Given the description of an element on the screen output the (x, y) to click on. 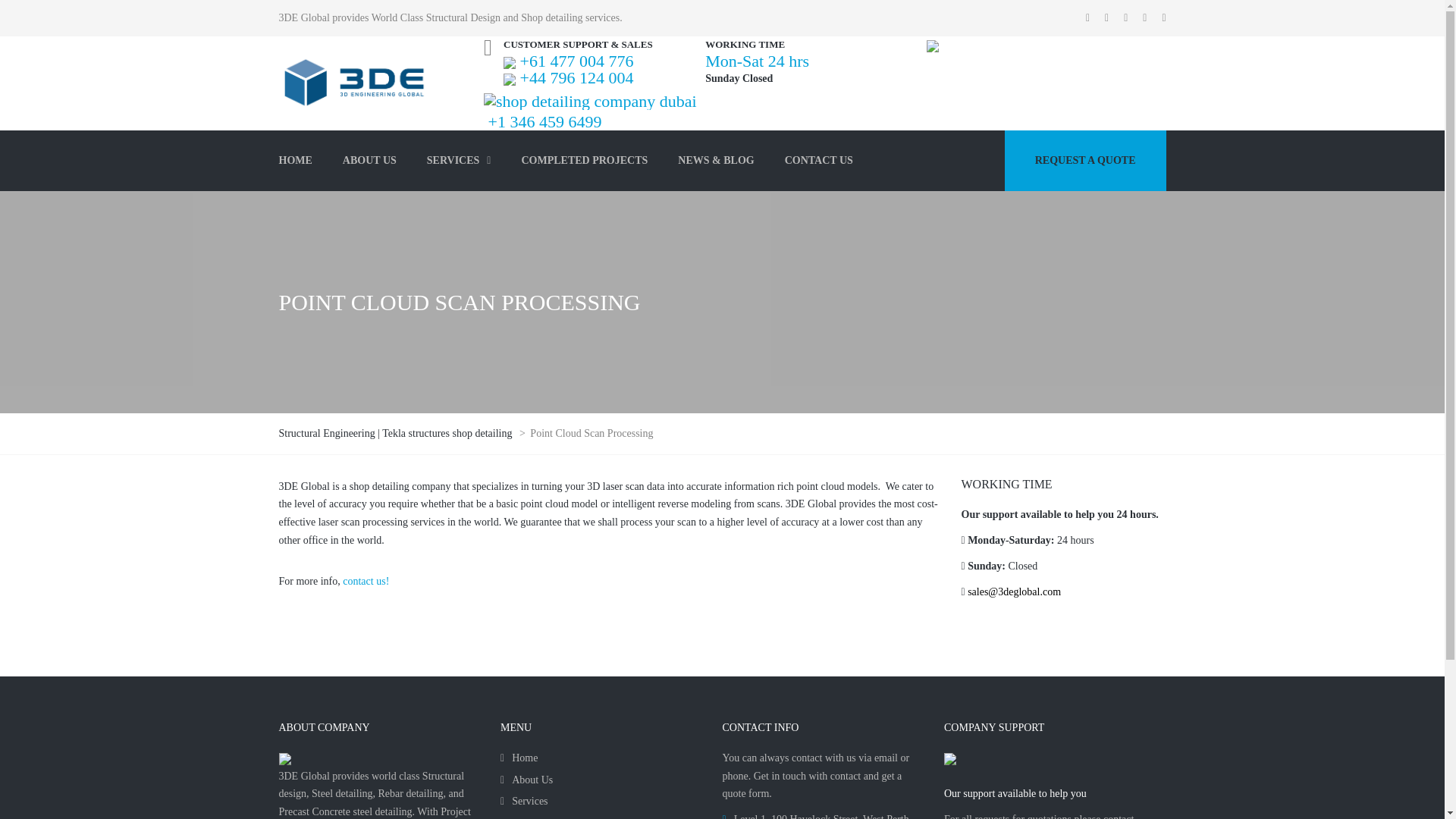
REQUEST A QUOTE (1085, 160)
Home (518, 757)
ABOUT US (369, 160)
Services (524, 800)
COMPLETED PROJECTS (583, 160)
CONTACT US (818, 160)
contact us! (365, 581)
SERVICES (459, 160)
About Us (526, 779)
